Given the description of an element on the screen output the (x, y) to click on. 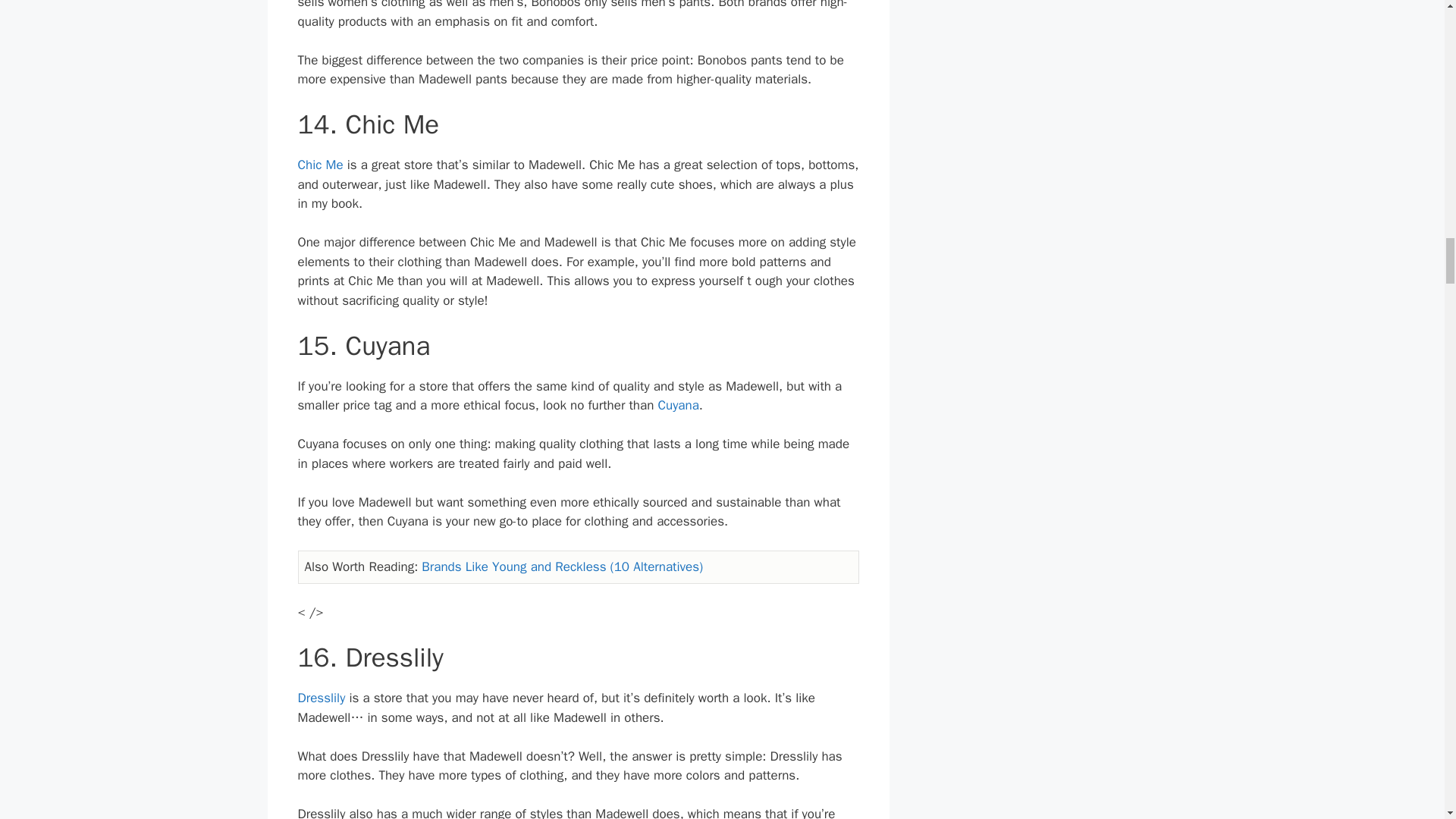
Dresslily (321, 697)
Chic Me (319, 164)
Cuyana (678, 405)
